Given the description of an element on the screen output the (x, y) to click on. 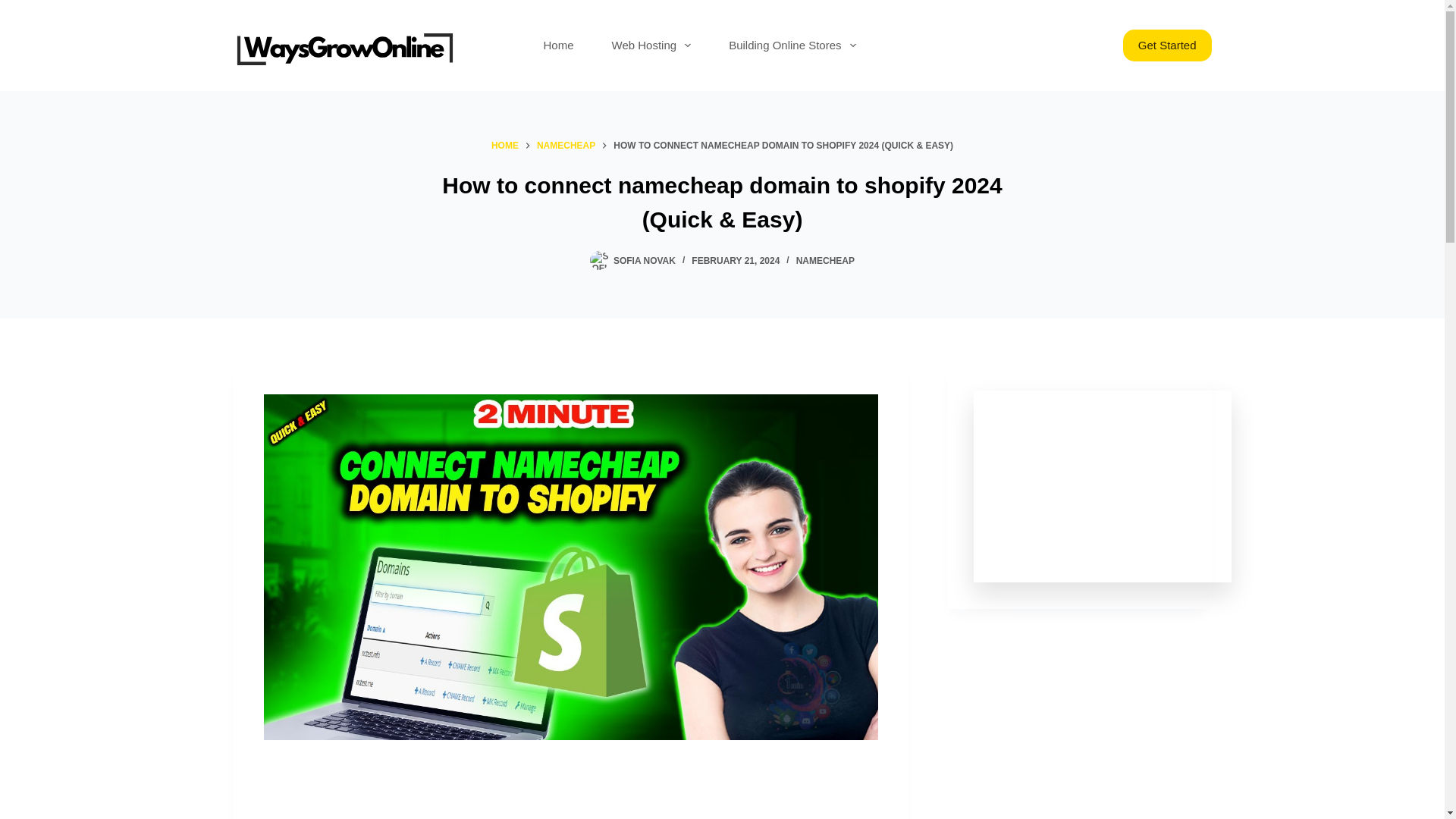
Skip to content (15, 7)
Get Started (1166, 45)
Posts by Sofia Novak (643, 260)
SOFIA NOVAK (643, 260)
Home (558, 45)
Web Hosting (651, 45)
NAMECHEAP (825, 260)
HOME (505, 145)
NAMECHEAP (566, 145)
Building Online Stores (792, 45)
